Given the description of an element on the screen output the (x, y) to click on. 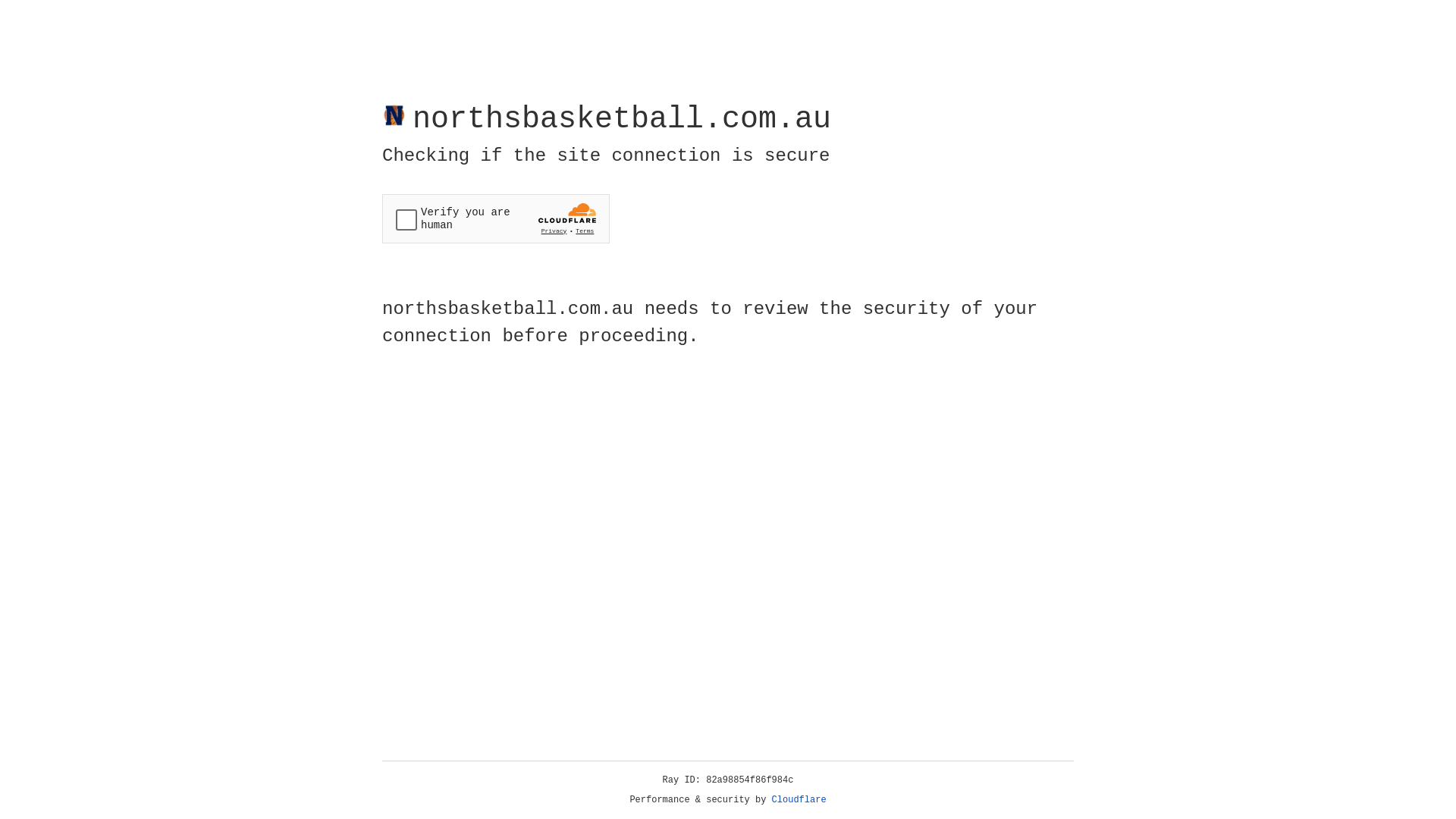
Widget containing a Cloudflare security challenge Element type: hover (495, 218)
Cloudflare Element type: text (798, 799)
